Given the description of an element on the screen output the (x, y) to click on. 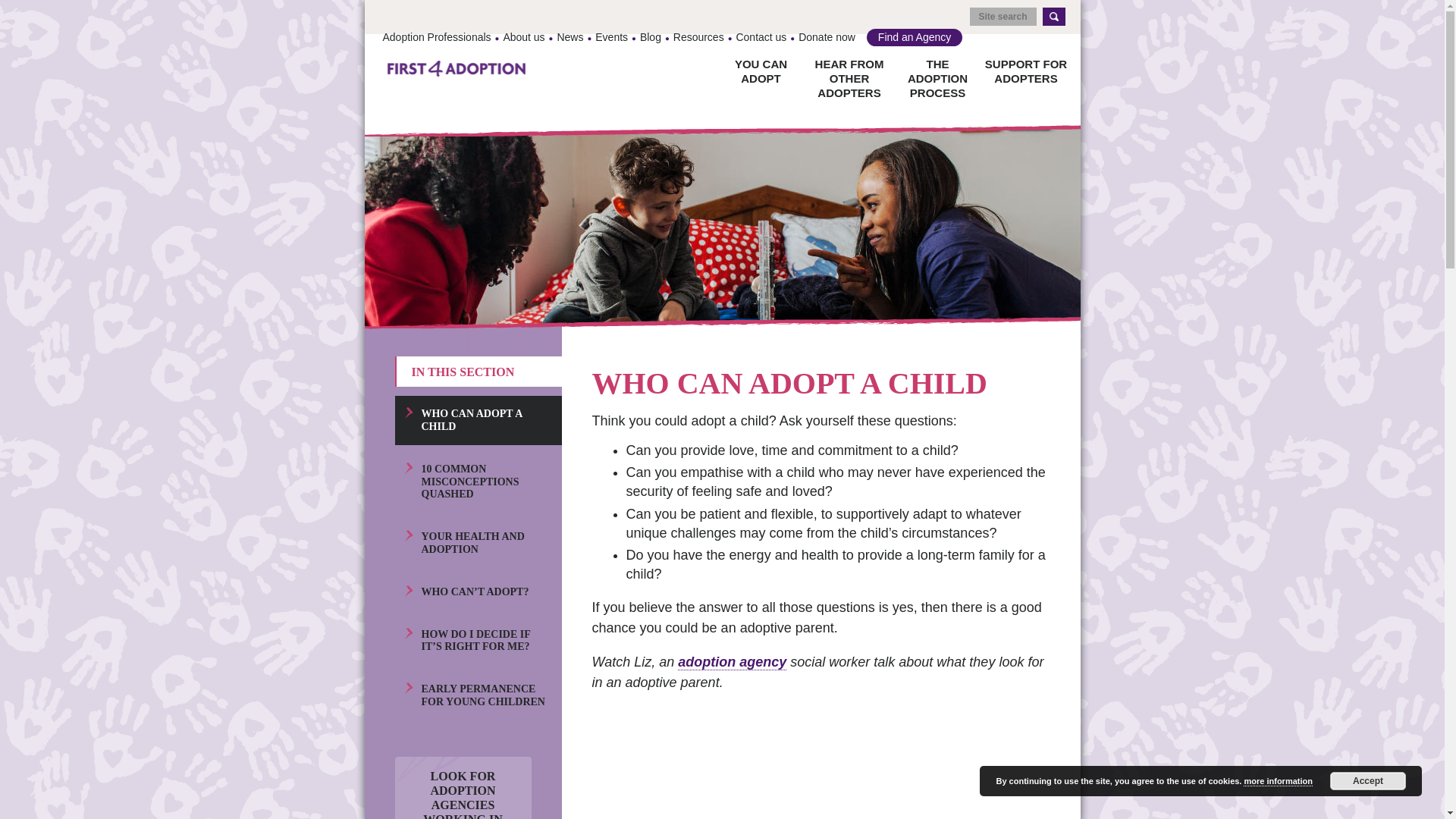
10 COMMON MISCONCEPTIONS QUASHED (477, 481)
WHO CAN ADOPT A CHILD (477, 420)
YOUR HEALTH AND ADOPTION (477, 543)
EARLY PERMANENCE FOR YOUNG CHILDREN (477, 695)
